Given the description of an element on the screen output the (x, y) to click on. 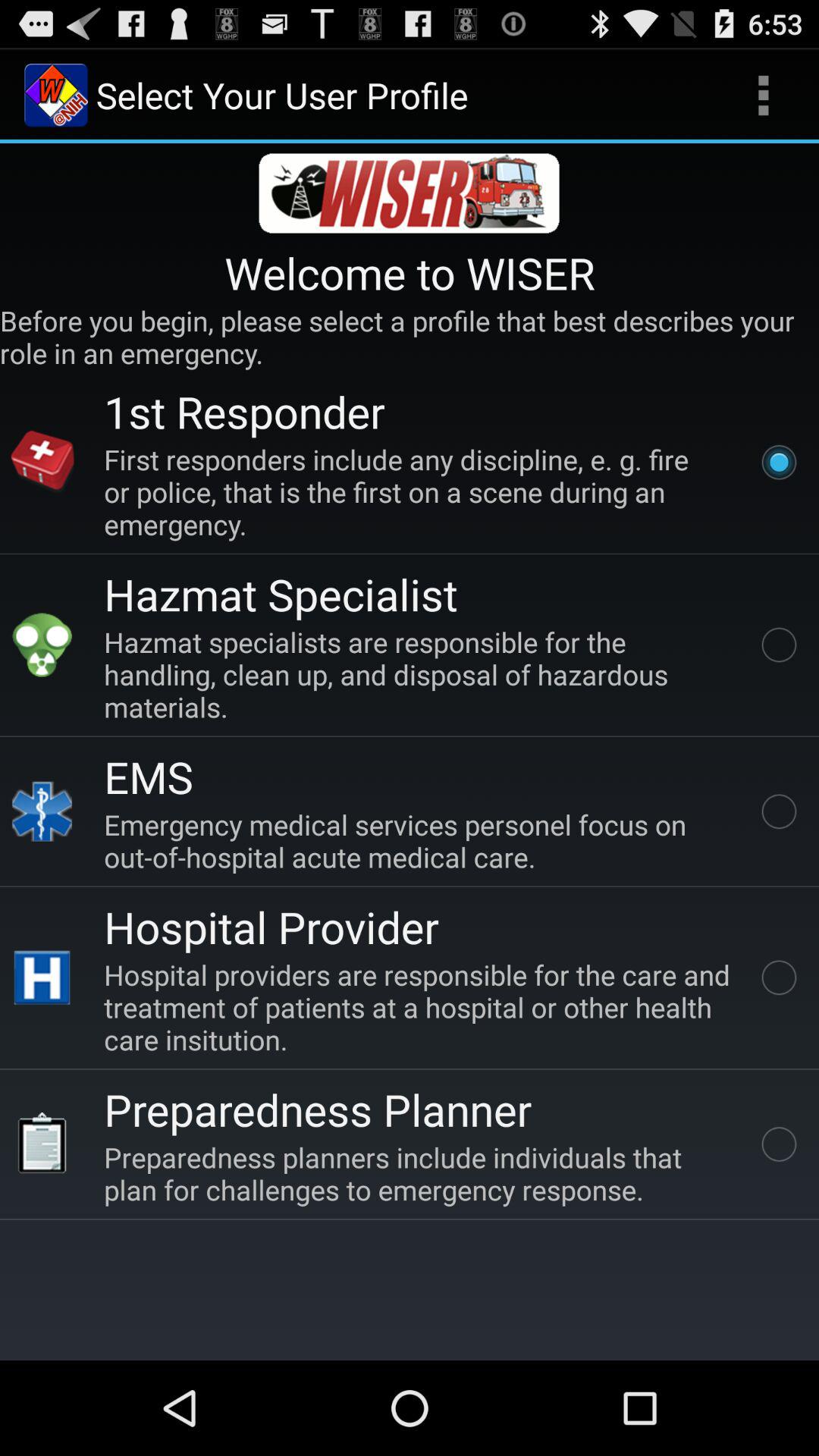
flip to the hazmat specialist (280, 593)
